Given the description of an element on the screen output the (x, y) to click on. 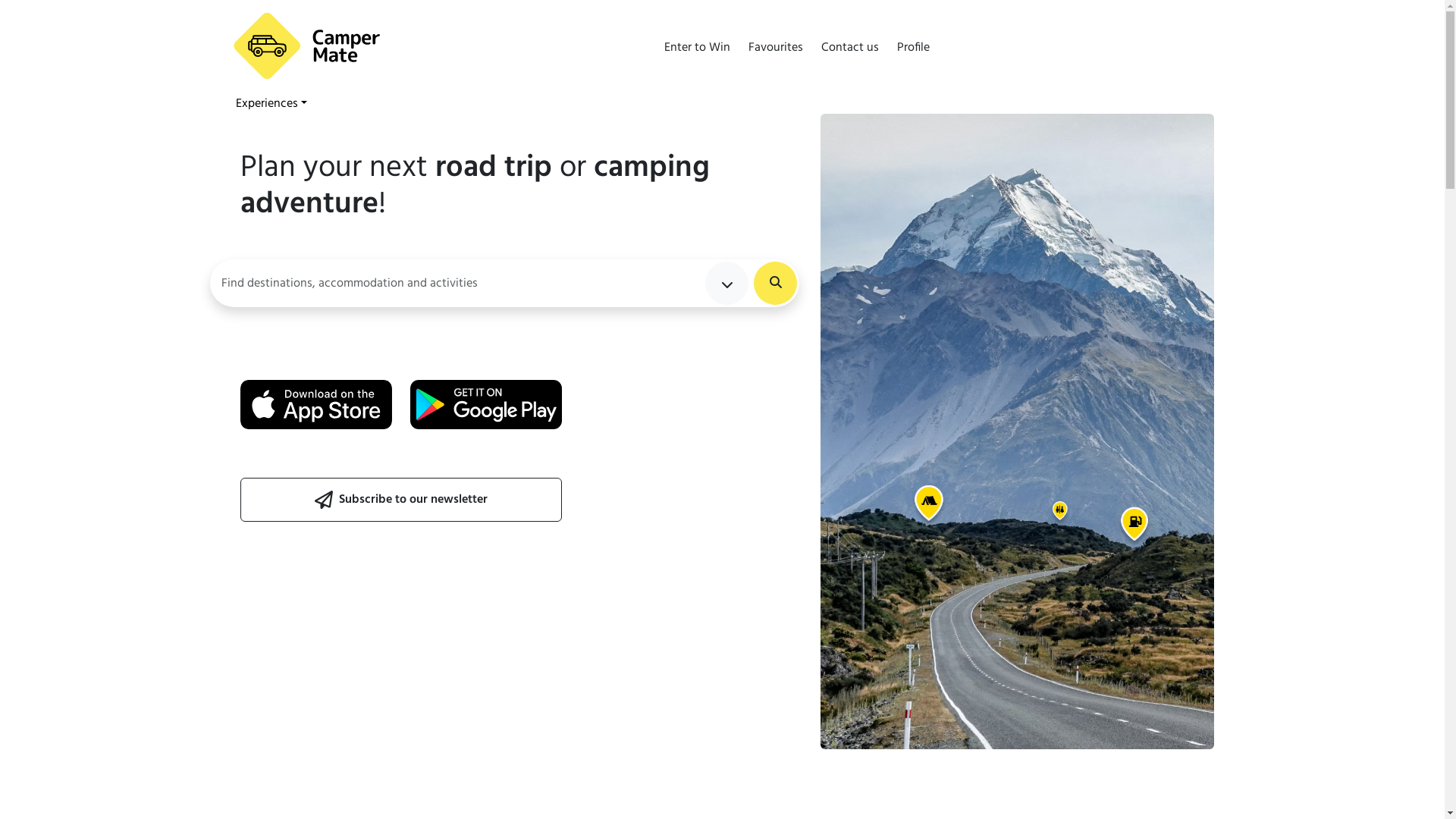
Contact us Element type: text (849, 54)
Experiences Element type: text (270, 103)
Profile Element type: text (912, 54)
Enter to Win Element type: text (697, 54)
Experiences Element type: text (270, 102)
Subscribe to our newsletter Element type: text (400, 499)
Favourites Element type: text (774, 54)
